Given the description of an element on the screen output the (x, y) to click on. 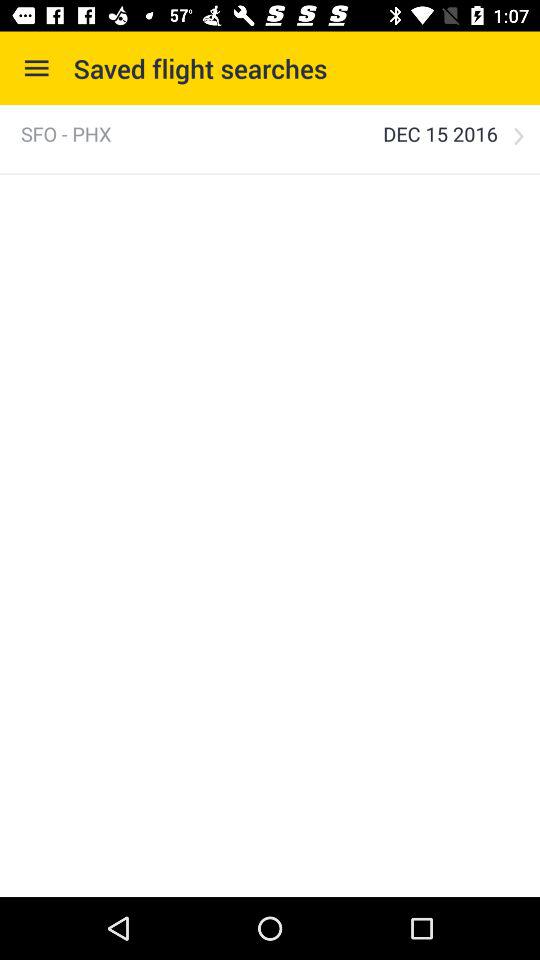
flip until dec 15 2016 (440, 133)
